Given the description of an element on the screen output the (x, y) to click on. 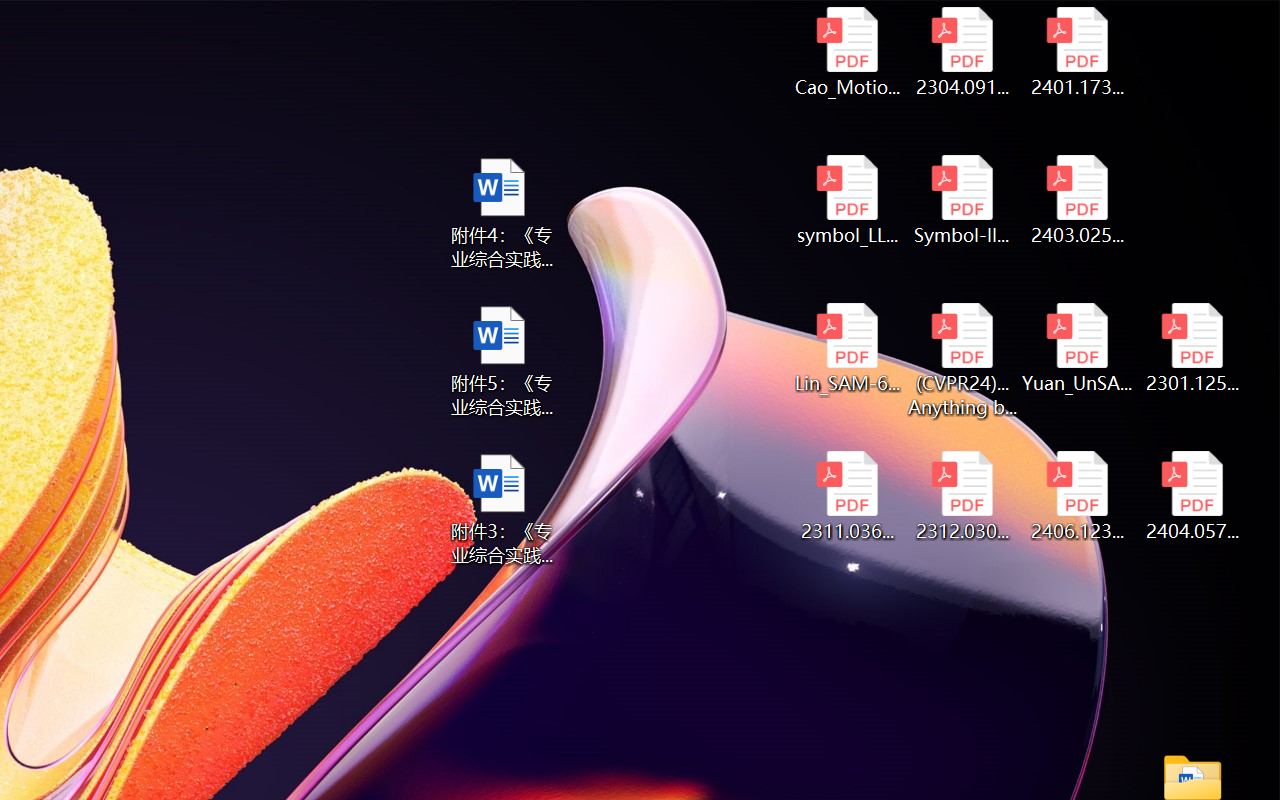
2406.12373v2.pdf (1077, 496)
2311.03658v2.pdf (846, 496)
2403.02502v1.pdf (1077, 200)
2304.09121v3.pdf (962, 52)
2401.17399v1.pdf (1077, 52)
2312.03032v2.pdf (962, 496)
symbol_LLM.pdf (846, 200)
2404.05719v1.pdf (1192, 496)
(CVPR24)Matching Anything by Segmenting Anything.pdf (962, 360)
